Given the description of an element on the screen output the (x, y) to click on. 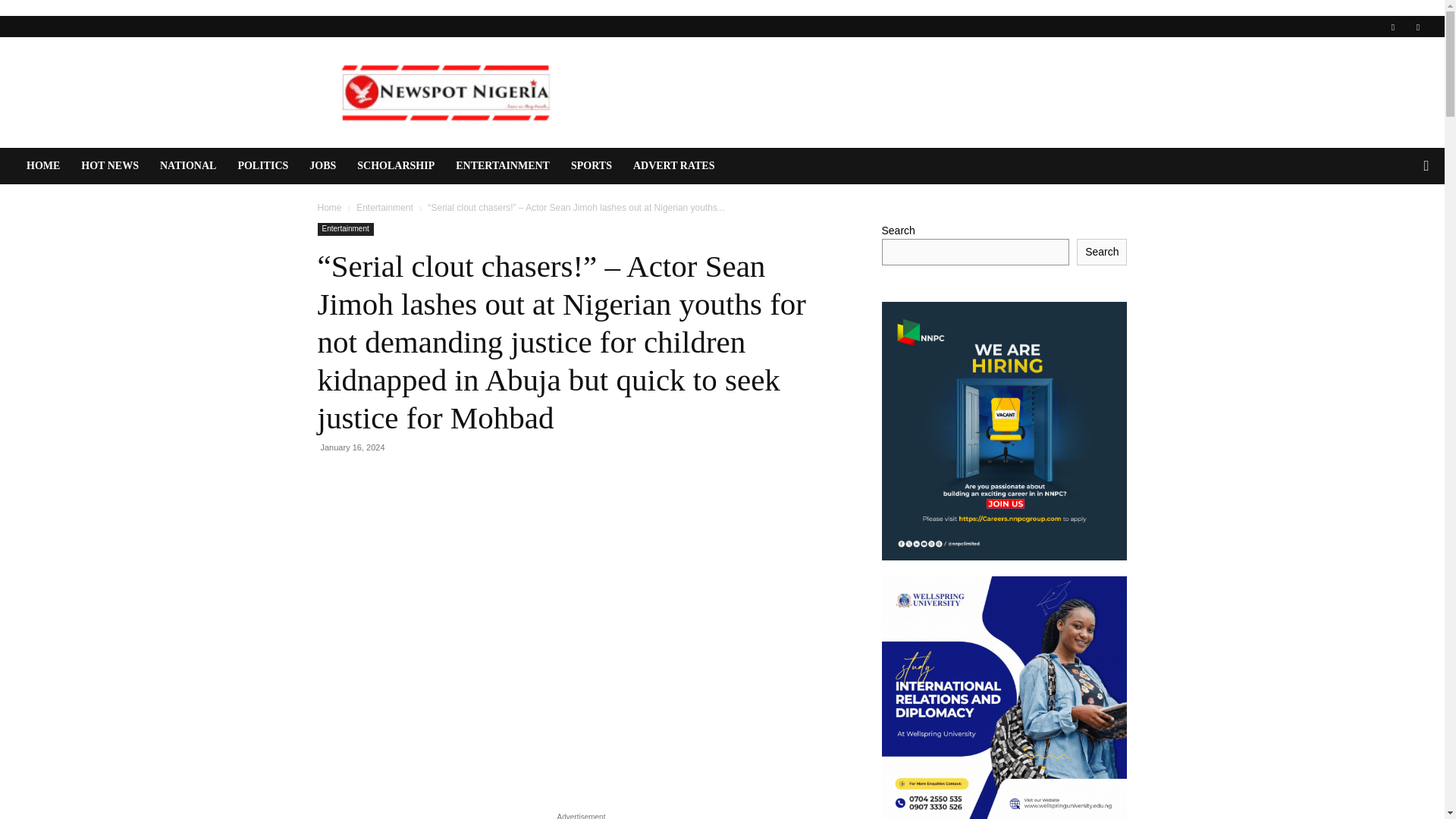
ADVERT RATES (674, 166)
ENTERTAINMENT (502, 166)
SPORTS (591, 166)
Search (1395, 226)
JOBS (322, 166)
NATIONAL (188, 166)
View all posts in Entertainment (384, 207)
Home (328, 207)
HOT NEWS (109, 166)
Twitter (1417, 25)
